Given the description of an element on the screen output the (x, y) to click on. 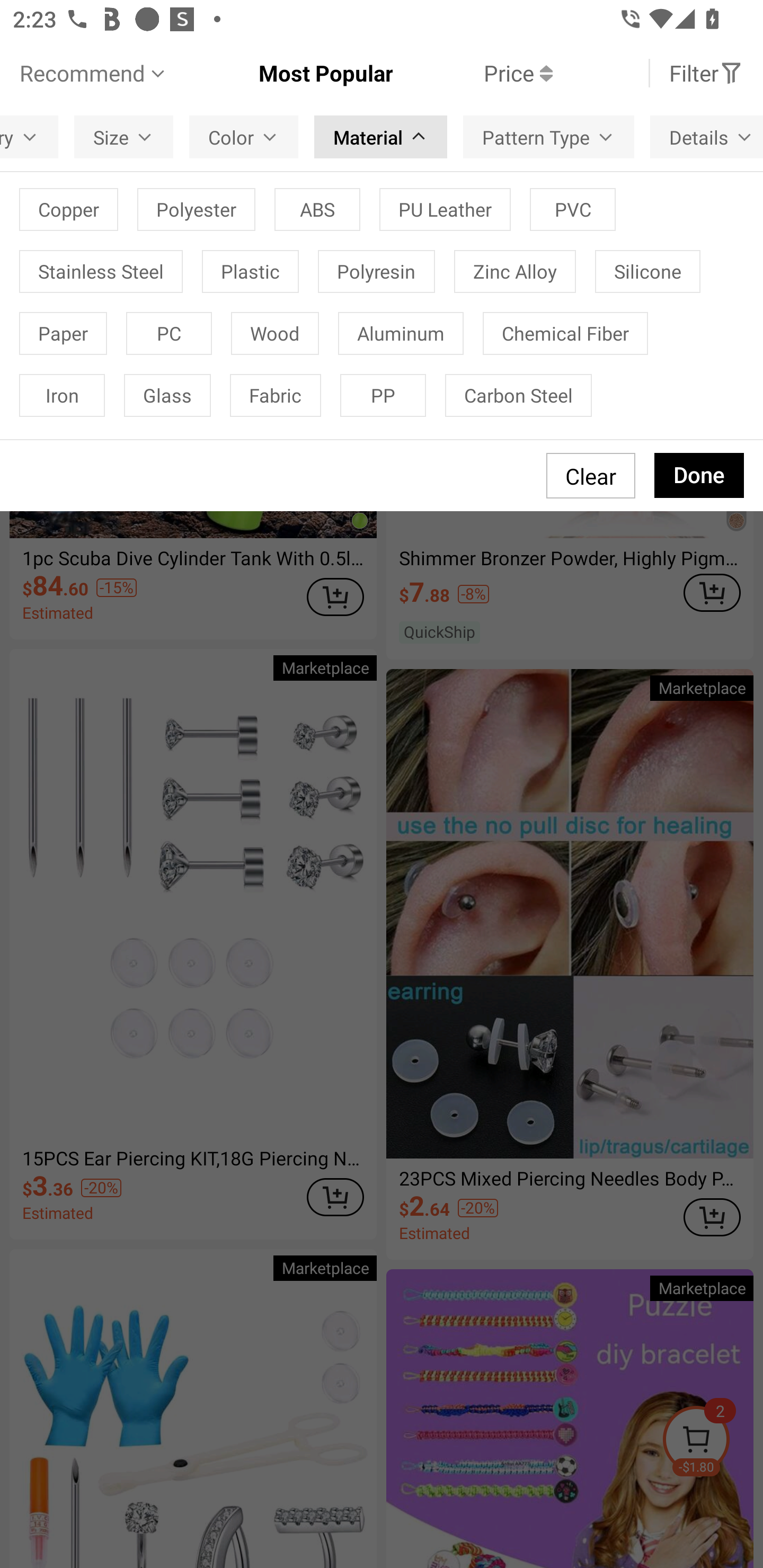
Recommend (93, 72)
Most Popular (280, 72)
Price (472, 72)
Filter (705, 72)
Size (123, 137)
Color (243, 137)
Material (380, 137)
Pattern Type (548, 137)
Details (706, 137)
